Given the description of an element on the screen output the (x, y) to click on. 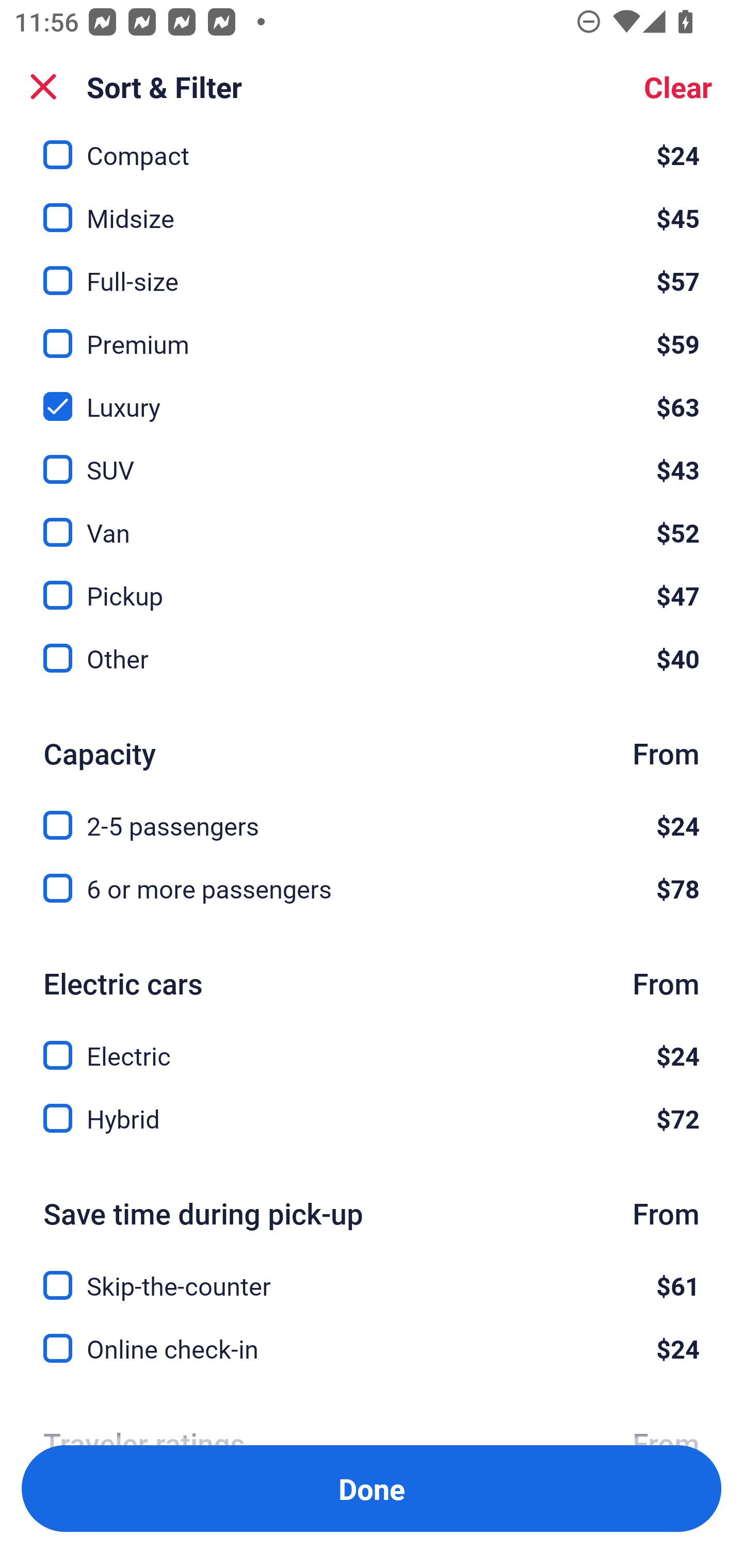
Close Sort and Filter (43, 86)
Clear (677, 86)
Compact, $24 Compact $24 (371, 152)
Midsize, $45 Midsize $45 (371, 206)
Full-size, $57 Full-size $57 (371, 269)
Premium, $59 Premium $59 (371, 332)
Luxury, $63 Luxury $63 (371, 394)
SUV, $43 SUV $43 (371, 457)
Van, $52 Van $52 (371, 520)
Pickup, $47 Pickup $47 (371, 582)
Other, $40 Other $40 (371, 658)
2-5 passengers, $24 2-5 passengers $24 (371, 813)
6 or more passengers, $78 6 or more passengers $78 (371, 888)
Electric, $24 Electric $24 (371, 1043)
Hybrid, $72 Hybrid $72 (371, 1118)
Skip-the-counter, $61 Skip-the-counter $61 (371, 1273)
Online check-in, $24 Online check-in $24 (371, 1349)
Apply and close Sort and Filter Done (371, 1488)
